Given the description of an element on the screen output the (x, y) to click on. 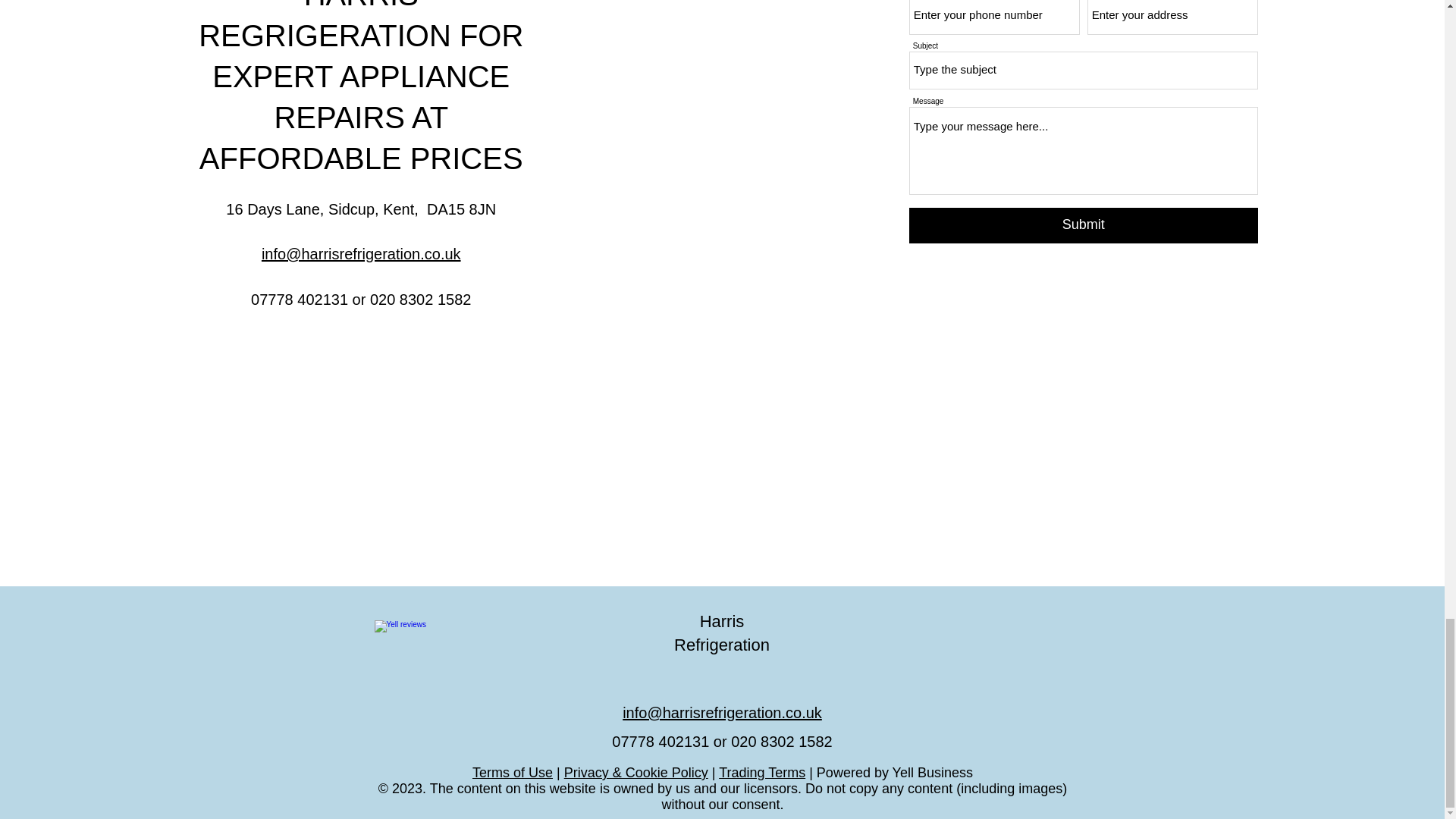
Terms of Use (512, 772)
Harris Refrigeration (722, 632)
Submit (1082, 224)
Trading Terms (762, 772)
